Given the description of an element on the screen output the (x, y) to click on. 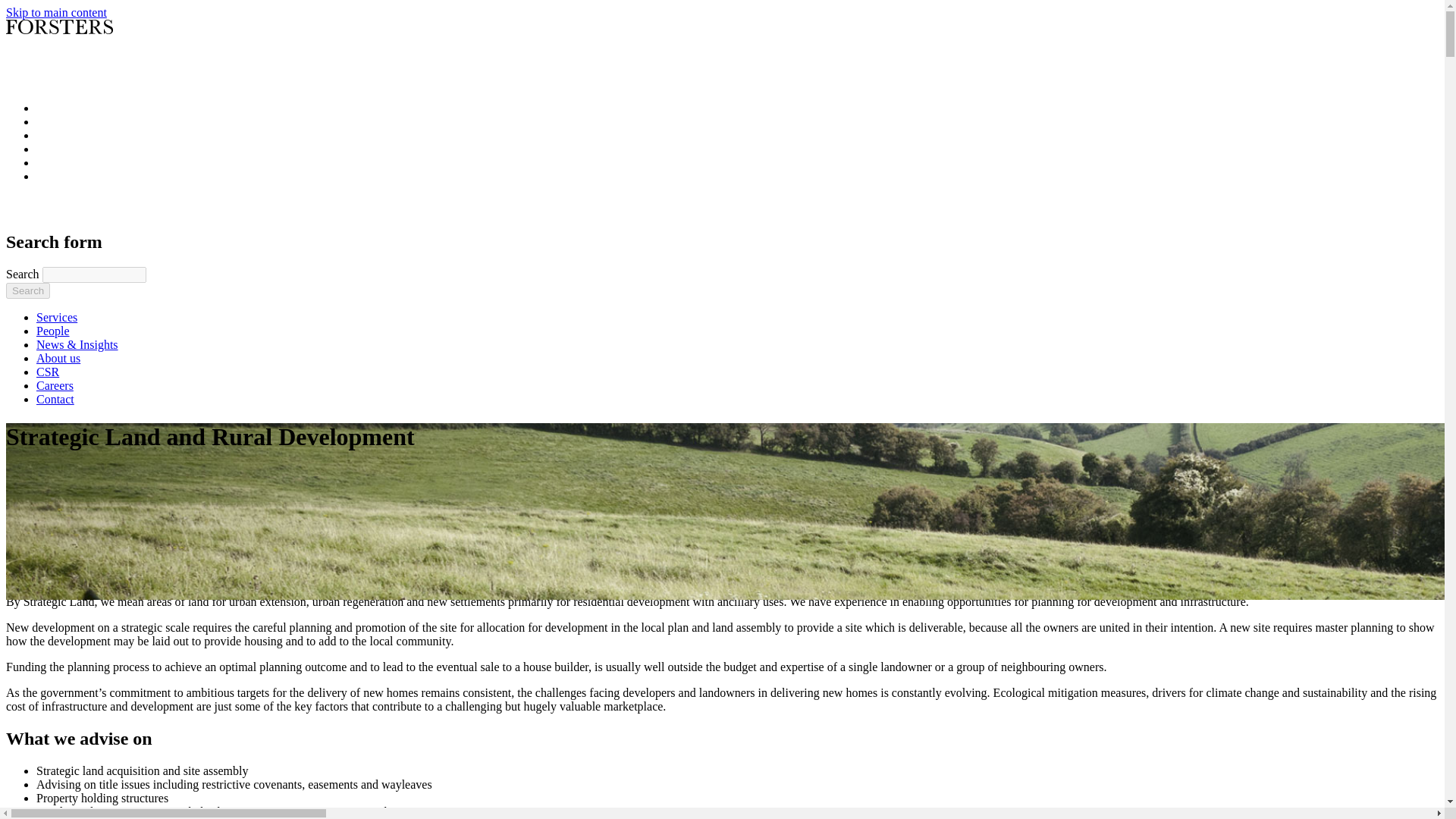
Home (73, 209)
Services (56, 317)
Skip to main content (55, 11)
Home (51, 44)
CSR (47, 371)
Enter the terms you wish to search for. (94, 274)
Search (27, 290)
Careers (55, 385)
People (52, 330)
About us (58, 358)
Contact (55, 399)
